Given the description of an element on the screen output the (x, y) to click on. 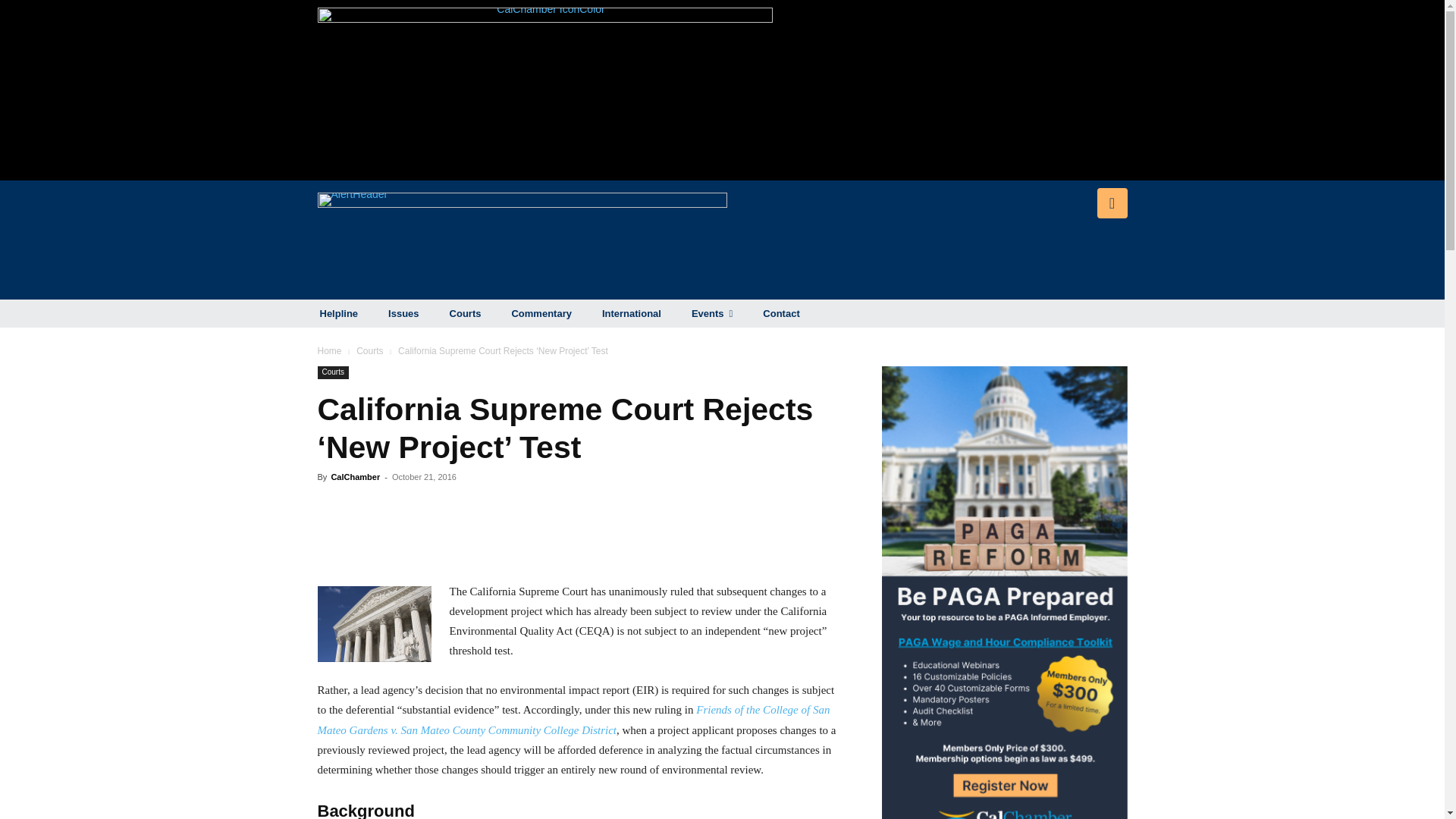
Helpline (339, 313)
Events (711, 313)
CalChamber (355, 476)
Courts (332, 372)
Home (328, 350)
AlertHeader (521, 239)
CalChamber IconColor (544, 89)
topFacebookLike (430, 504)
View all posts in Courts (369, 350)
